Given the description of an element on the screen output the (x, y) to click on. 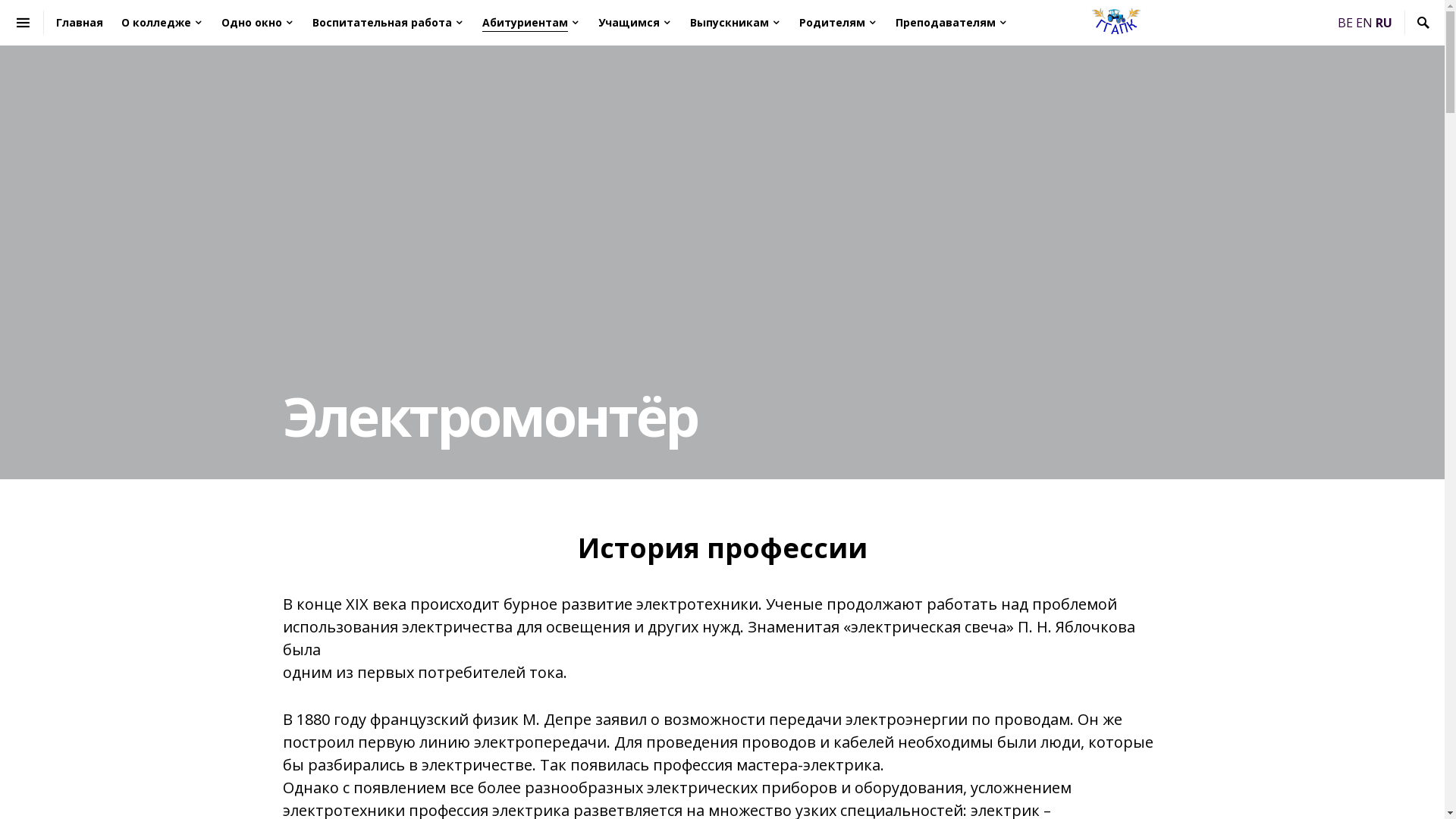
BE Element type: text (1344, 21)
EN Element type: text (1363, 21)
RU Element type: text (1383, 21)
